Given the description of an element on the screen output the (x, y) to click on. 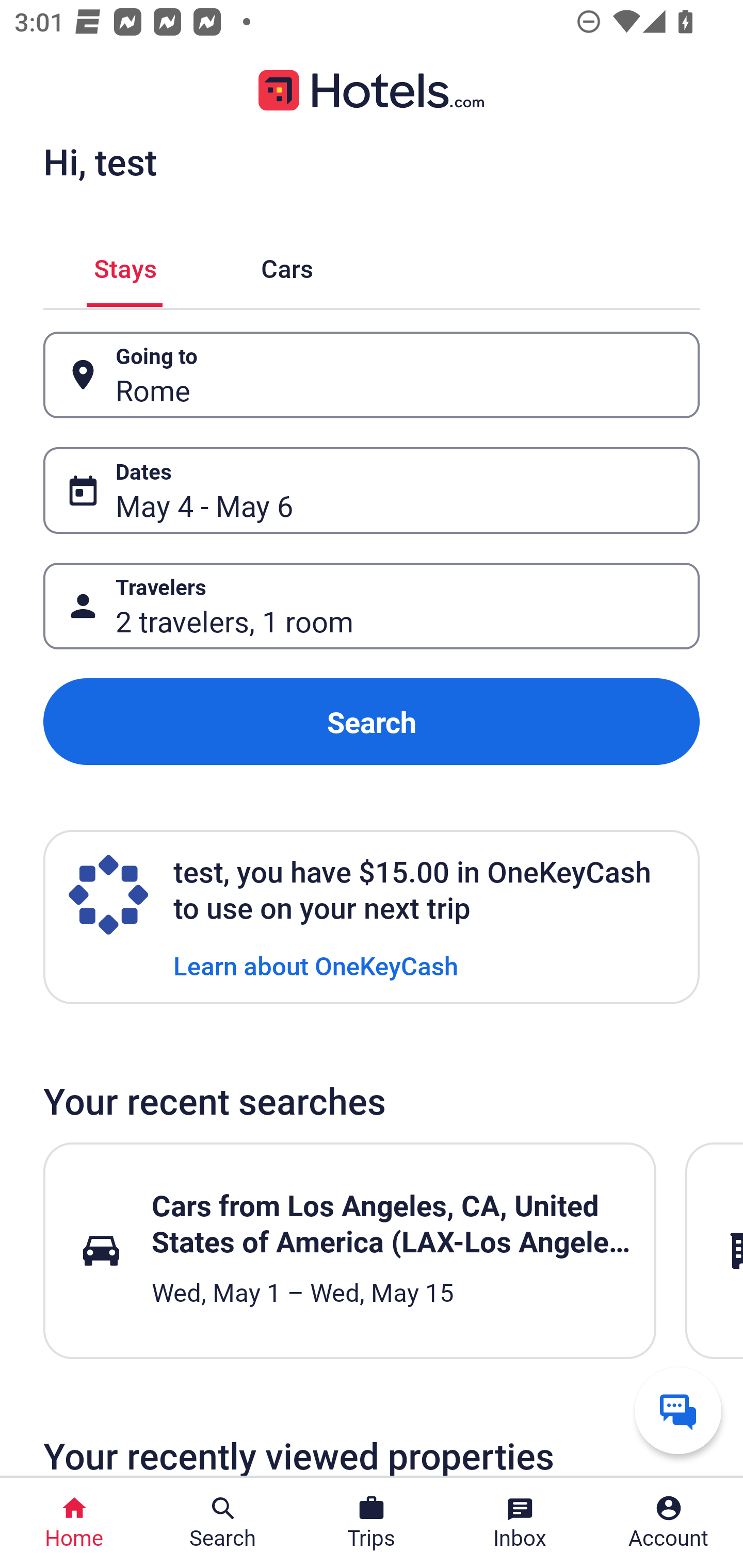
Hi, test (99, 161)
Cars (286, 265)
Going to Button Rome (371, 375)
Dates Button May 4 - May 6 (371, 489)
Travelers Button 2 travelers, 1 room (371, 605)
Search (371, 721)
Learn about OneKeyCash Learn about OneKeyCash Link (315, 964)
Get help from a virtual agent (677, 1410)
Search Search Button (222, 1522)
Trips Trips Button (371, 1522)
Inbox Inbox Button (519, 1522)
Account Profile. Button (668, 1522)
